Given the description of an element on the screen output the (x, y) to click on. 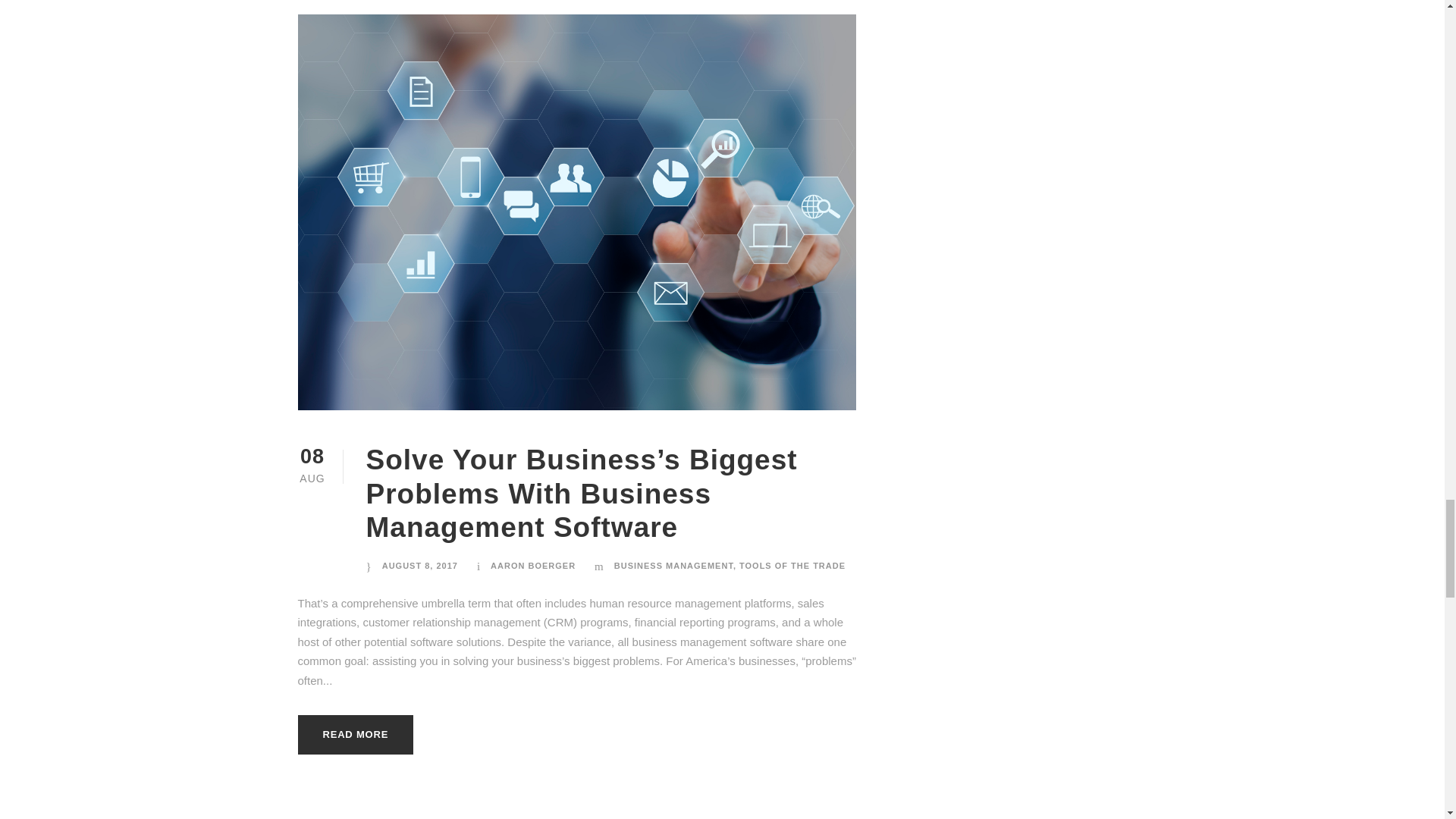
Posts by Aaron Boerger (532, 565)
